Given the description of an element on the screen output the (x, y) to click on. 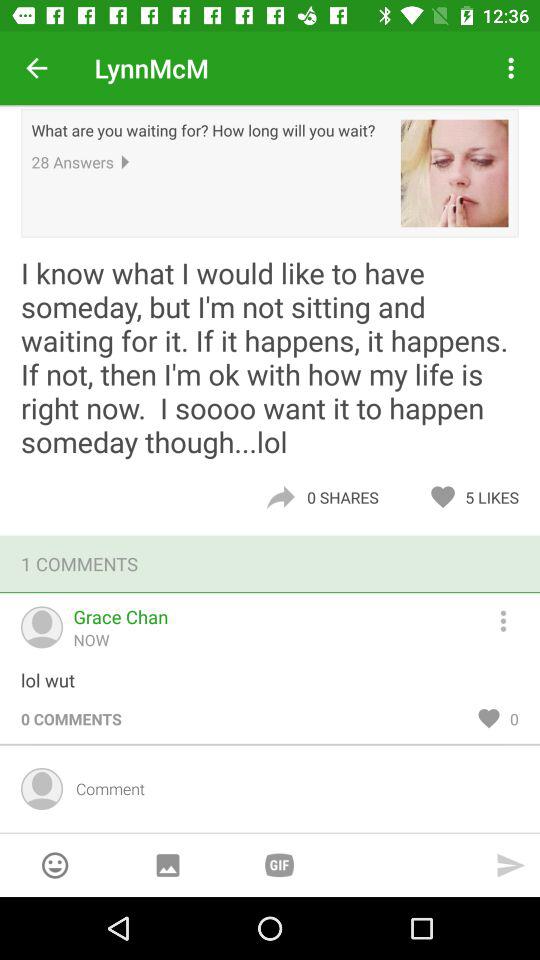
send typed comment (511, 865)
